Given the description of an element on the screen output the (x, y) to click on. 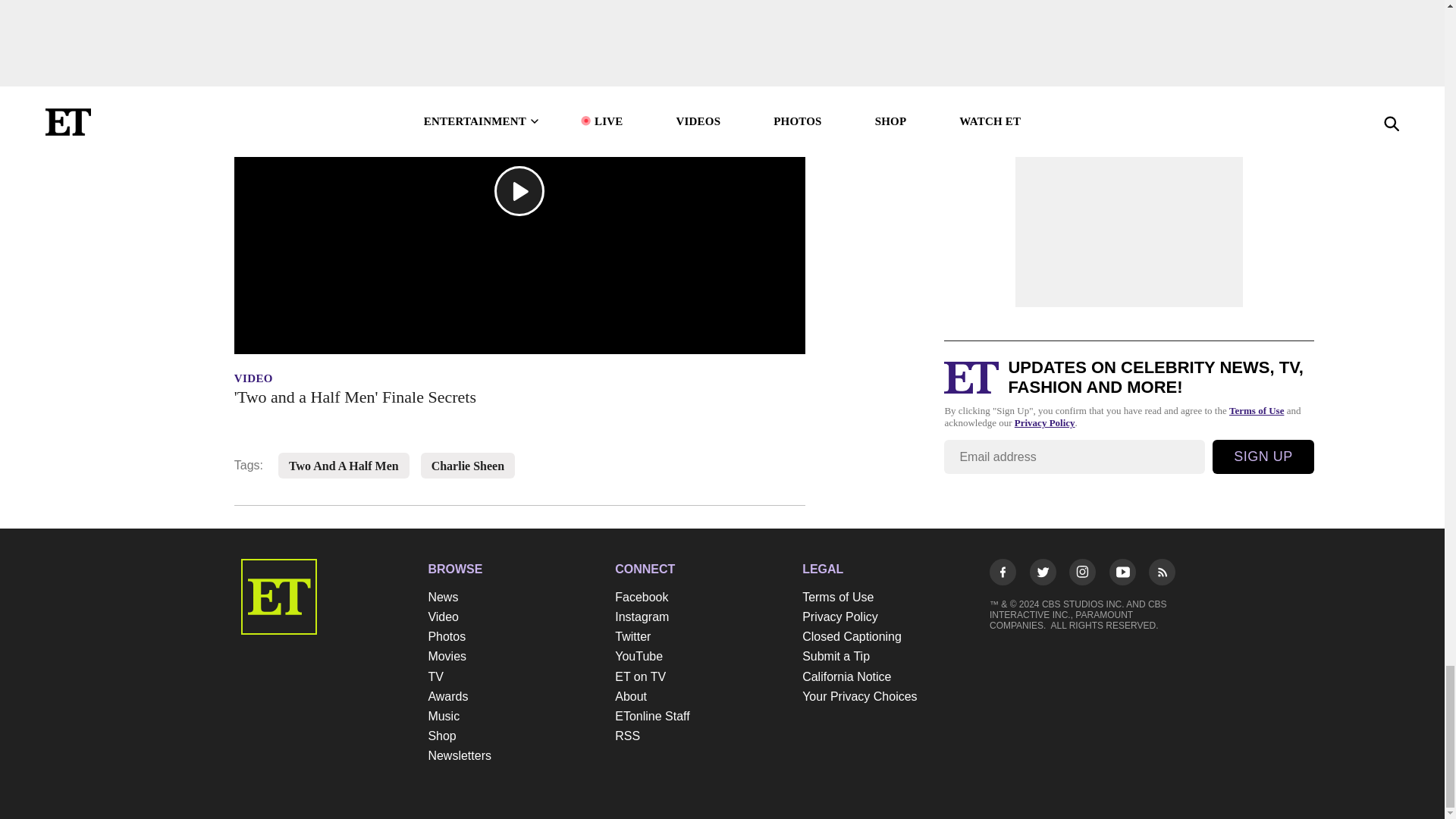
'Two and a Half Men' Finale Secrets (519, 397)
News (513, 597)
play (519, 191)
Charlie Sheen (466, 466)
Two And A Half Men (343, 466)
